Given the description of an element on the screen output the (x, y) to click on. 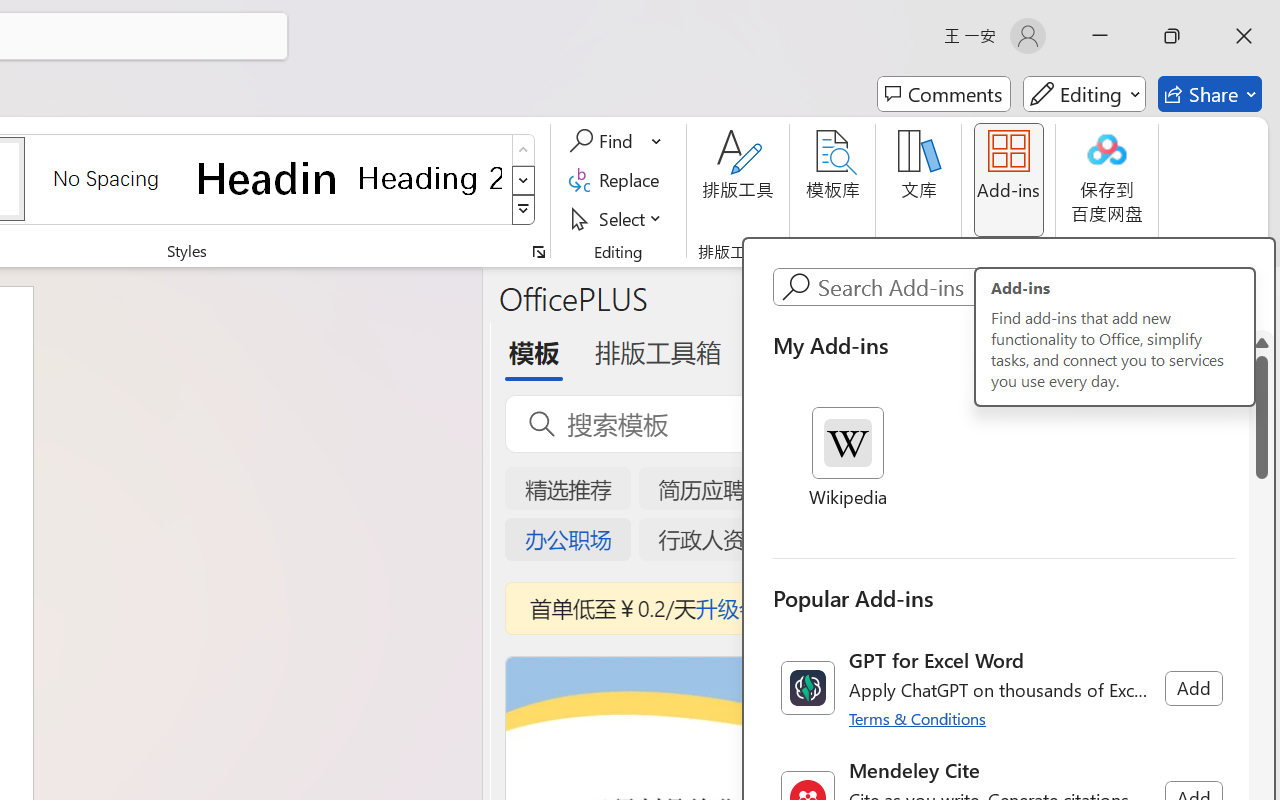
Close (1244, 36)
More Options (657, 141)
Row up (523, 150)
Terms & Conditions (918, 718)
